Given the description of an element on the screen output the (x, y) to click on. 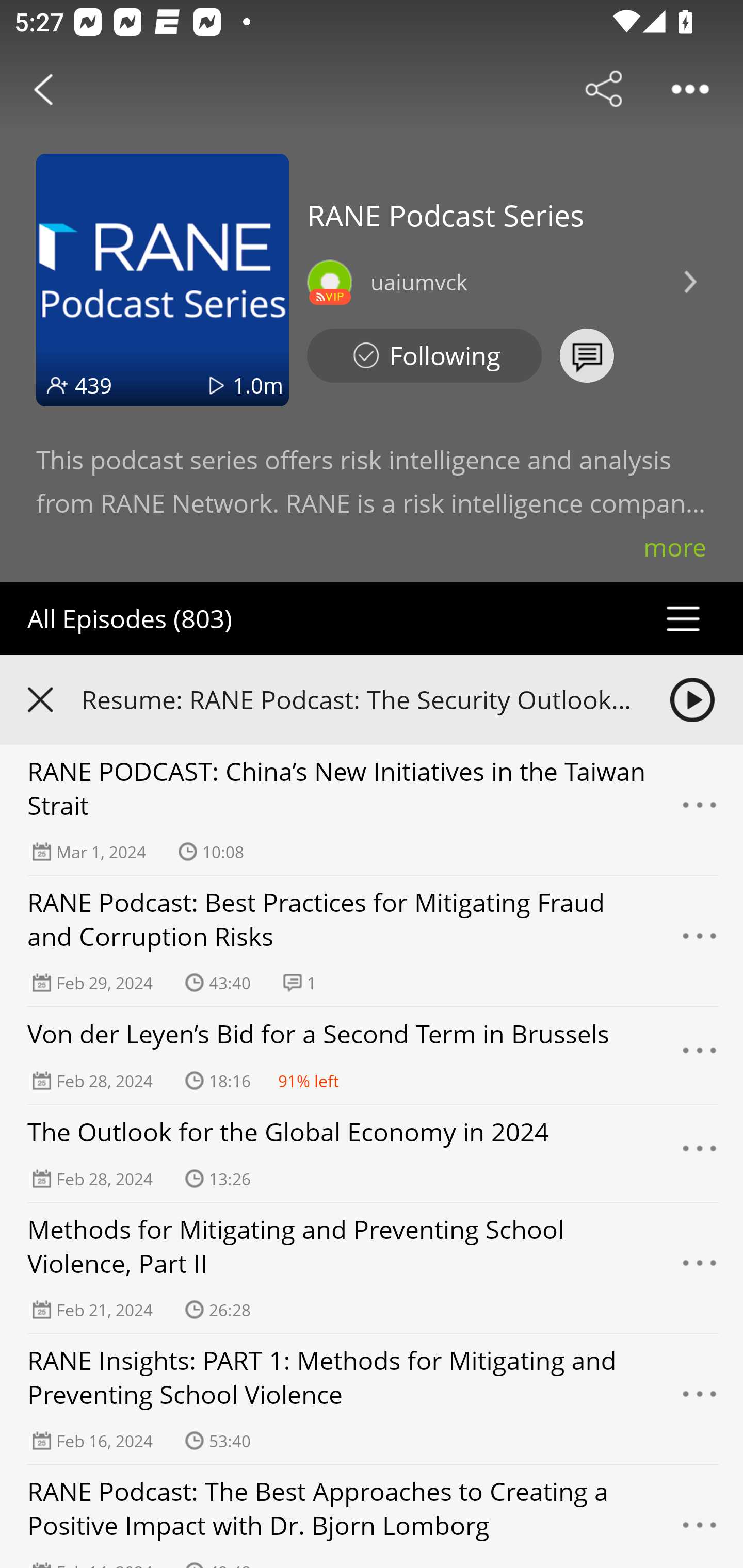
Back (43, 88)
Podbean Following (423, 355)
439 (93, 384)
more (674, 546)
Menu (699, 809)
Menu (699, 941)
Menu (699, 1055)
Menu (699, 1153)
Menu (699, 1268)
Menu (699, 1399)
Menu (699, 1527)
